Given the description of an element on the screen output the (x, y) to click on. 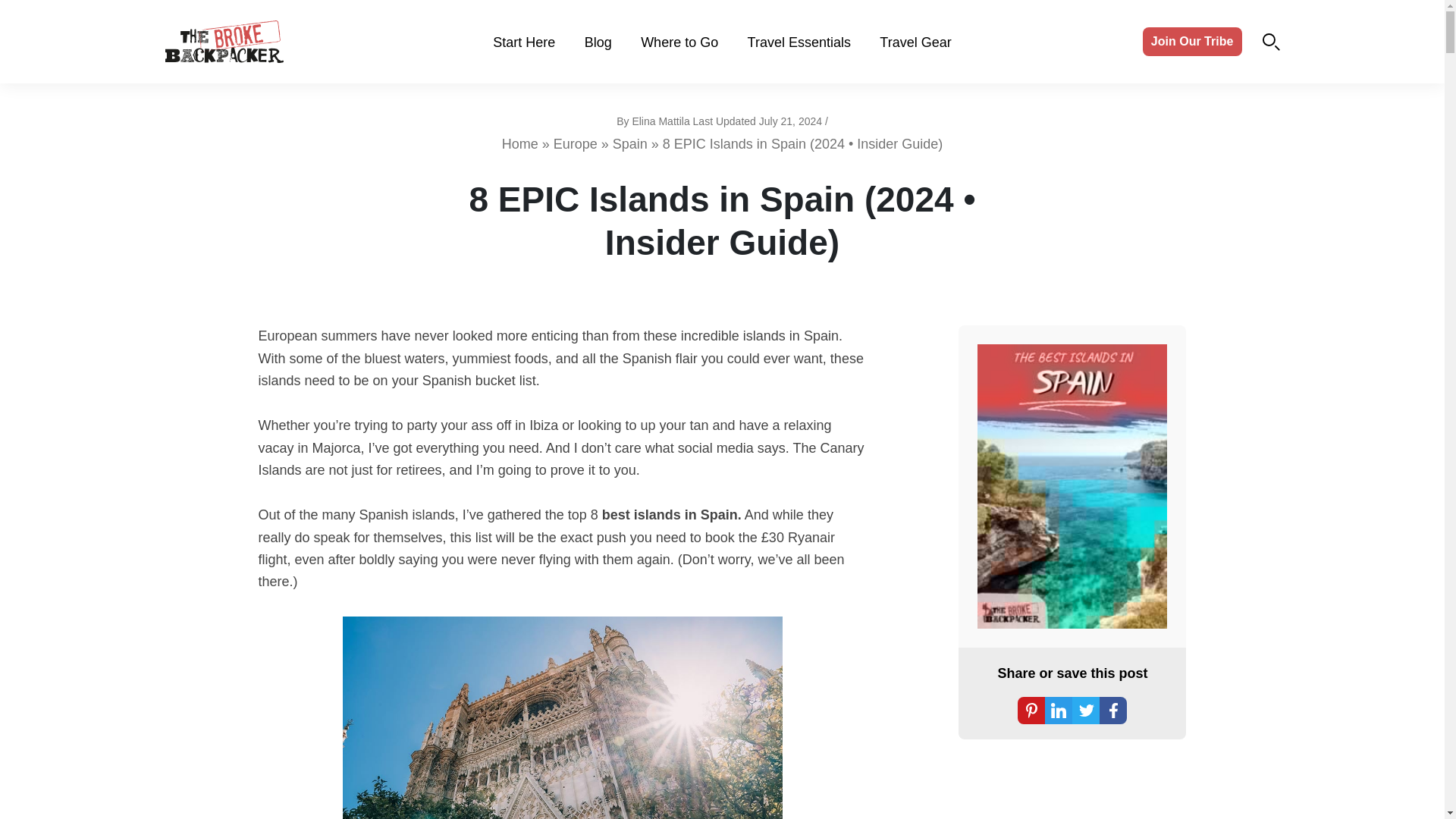
Blog (598, 42)
Where to Go (678, 42)
Start Here (523, 42)
